Given the description of an element on the screen output the (x, y) to click on. 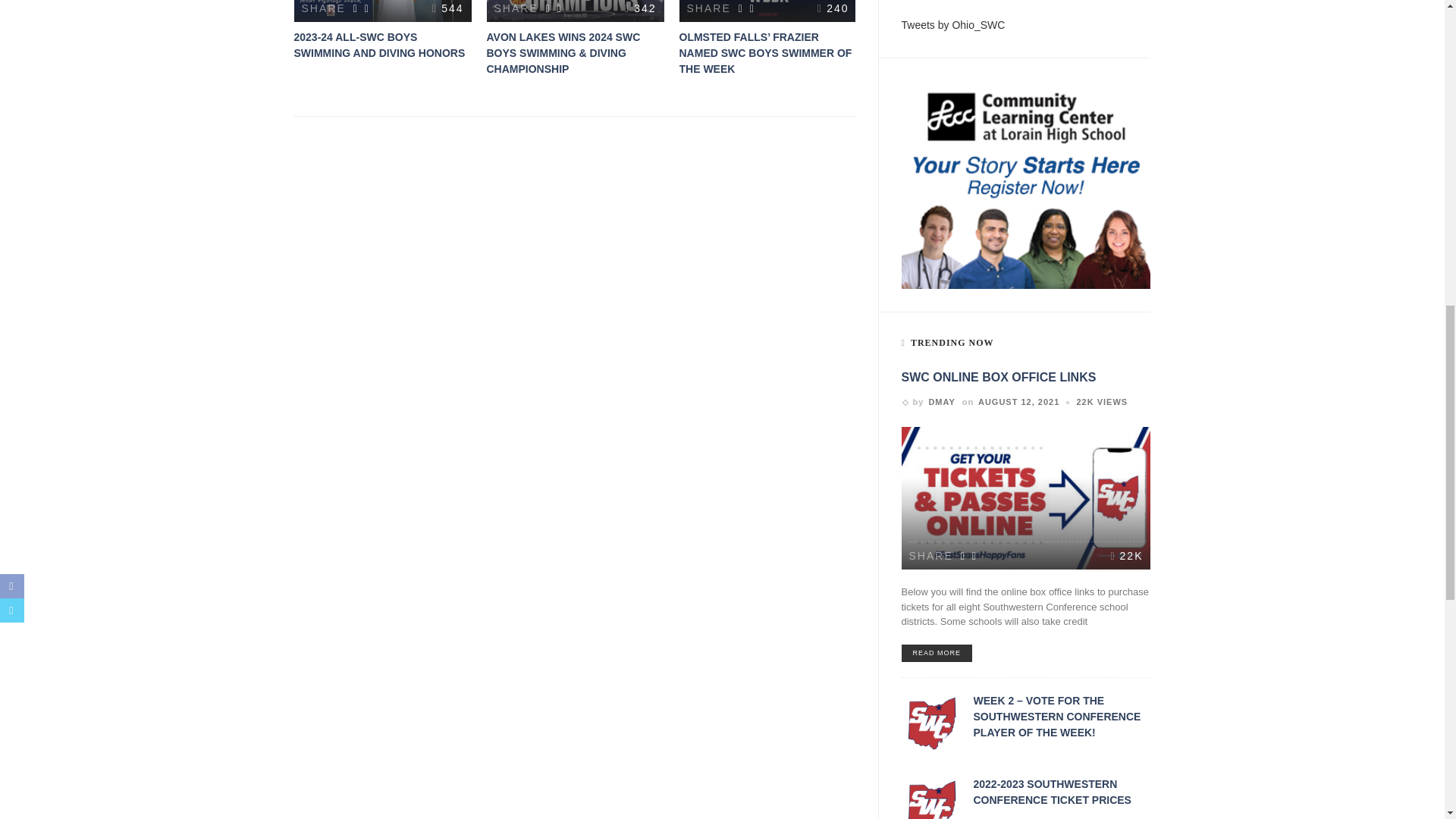
2023-24 All-SWC Boys Swimming and Diving Honors (379, 44)
2023-24 All-SWC Boys Swimming and Diving Honors (447, 8)
2023-24 All-SWC Boys Swimming and Diving Honors (382, 11)
